Given the description of an element on the screen output the (x, y) to click on. 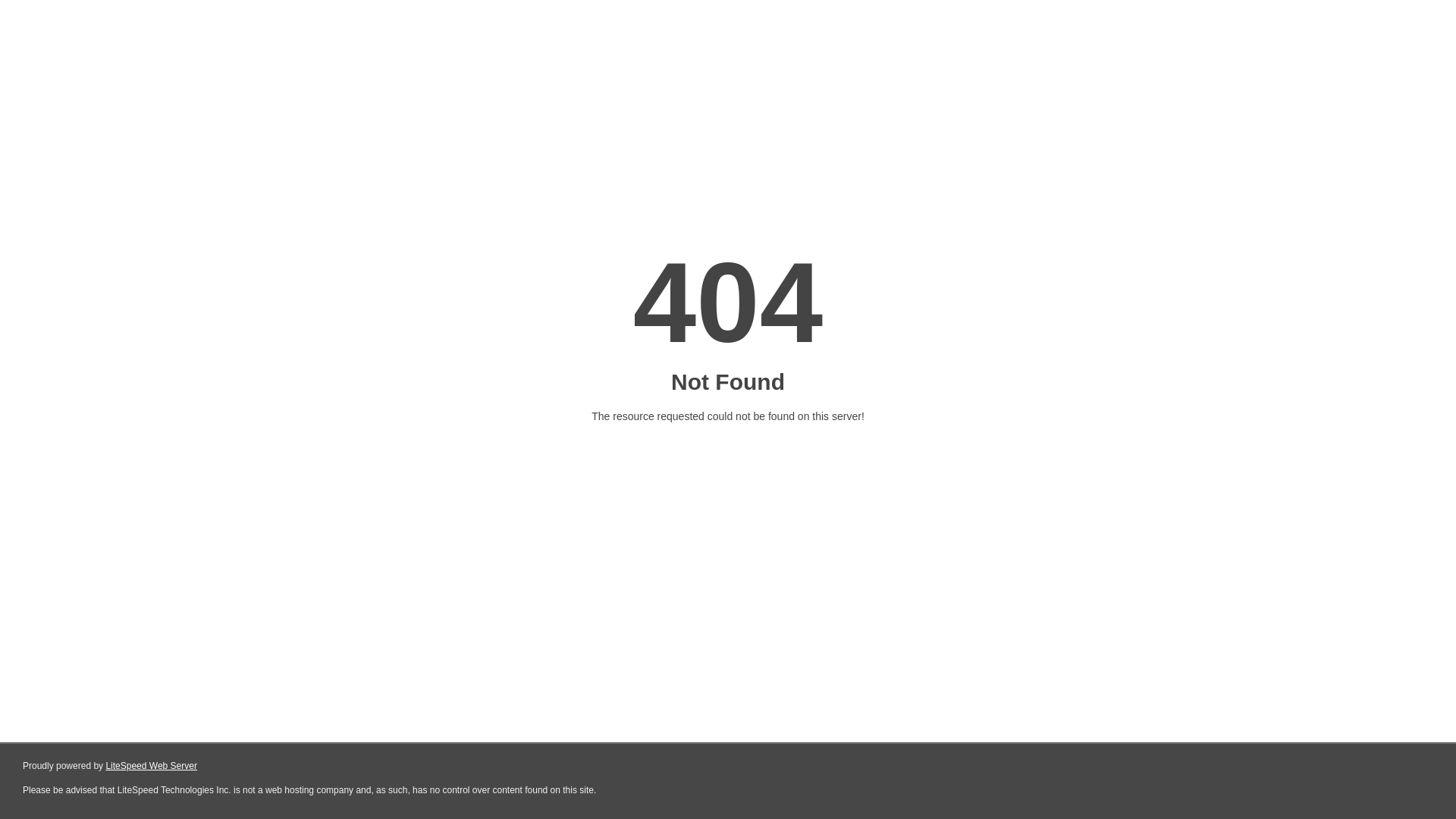
LiteSpeed Web Server Element type: text (151, 765)
